Given the description of an element on the screen output the (x, y) to click on. 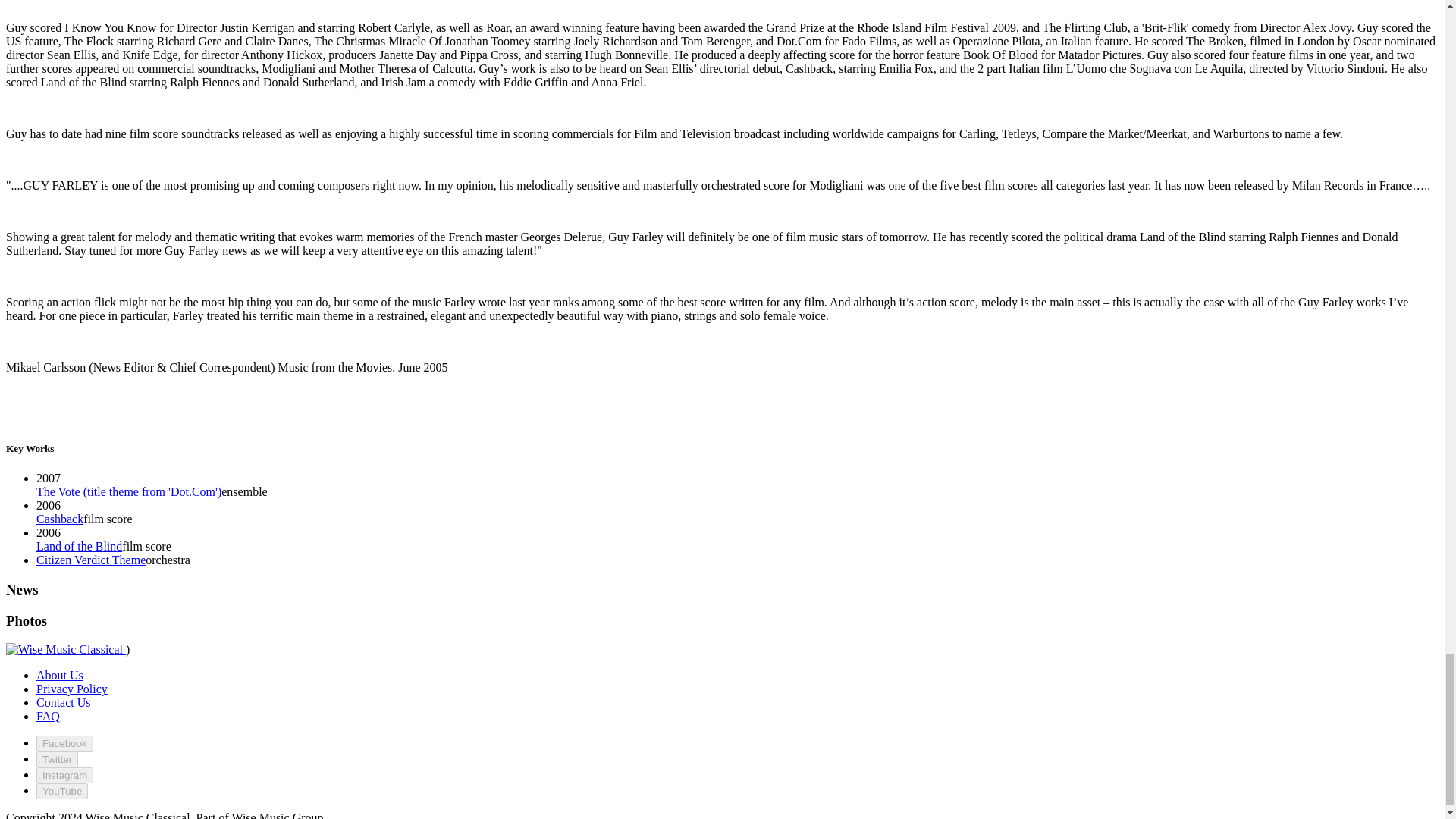
Land of the Blind (79, 545)
Privacy Policy (71, 688)
Contact Us (63, 702)
Facebook (64, 743)
FAQ (47, 716)
Citizen Verdict Theme (90, 559)
YouTube (61, 790)
Cashback (59, 518)
Twitter (57, 759)
About Us (59, 675)
